Given the description of an element on the screen output the (x, y) to click on. 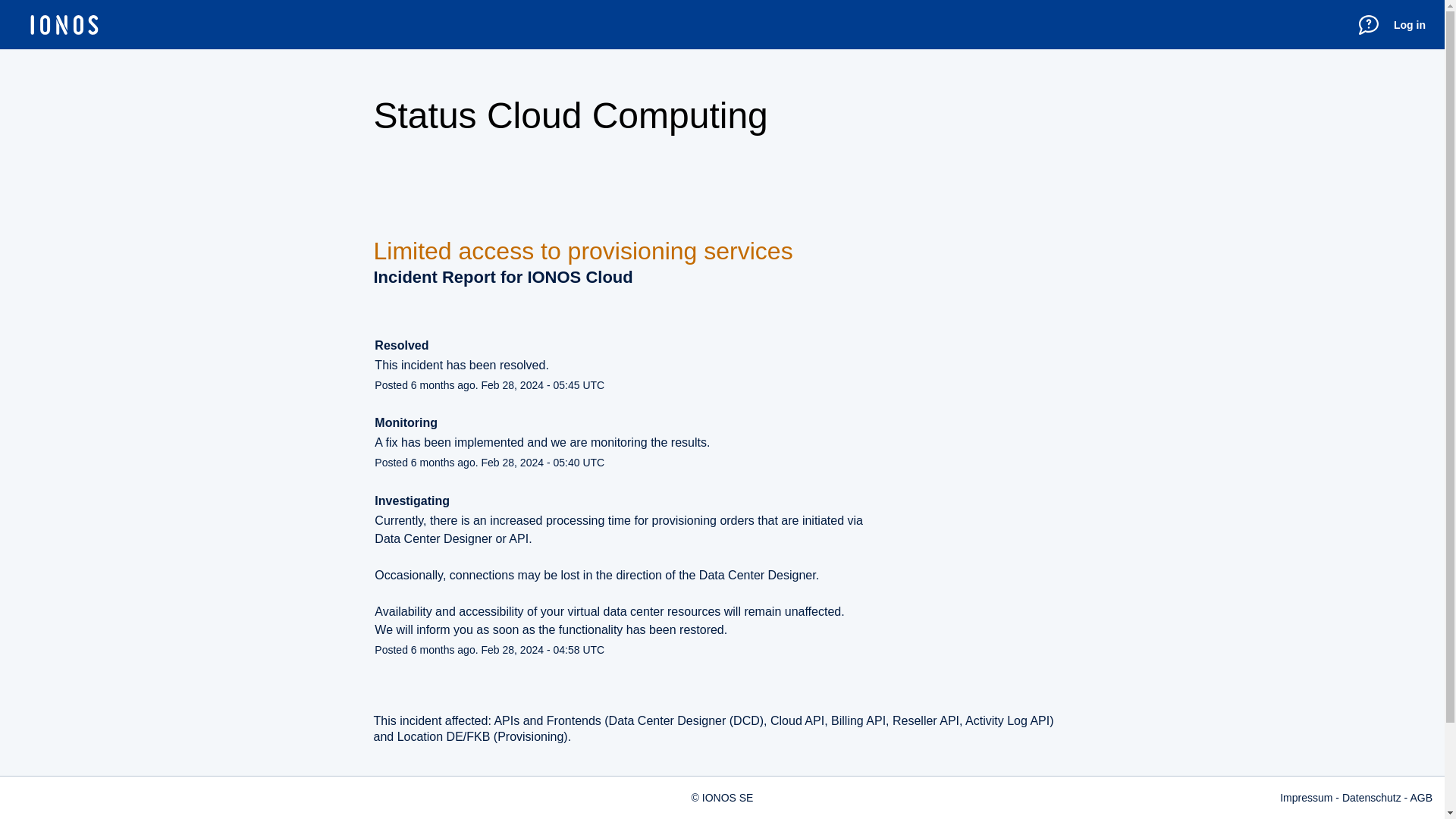
Impressum (1305, 797)
IONOS Cloud (579, 276)
Datenschutz (1371, 797)
Status Cloud Computing (569, 115)
Powered by Atlassian Statuspage (638, 814)
Current Status (421, 814)
Log in (1409, 24)
IONOS SE (727, 797)
AGB (1420, 797)
